Given the description of an element on the screen output the (x, y) to click on. 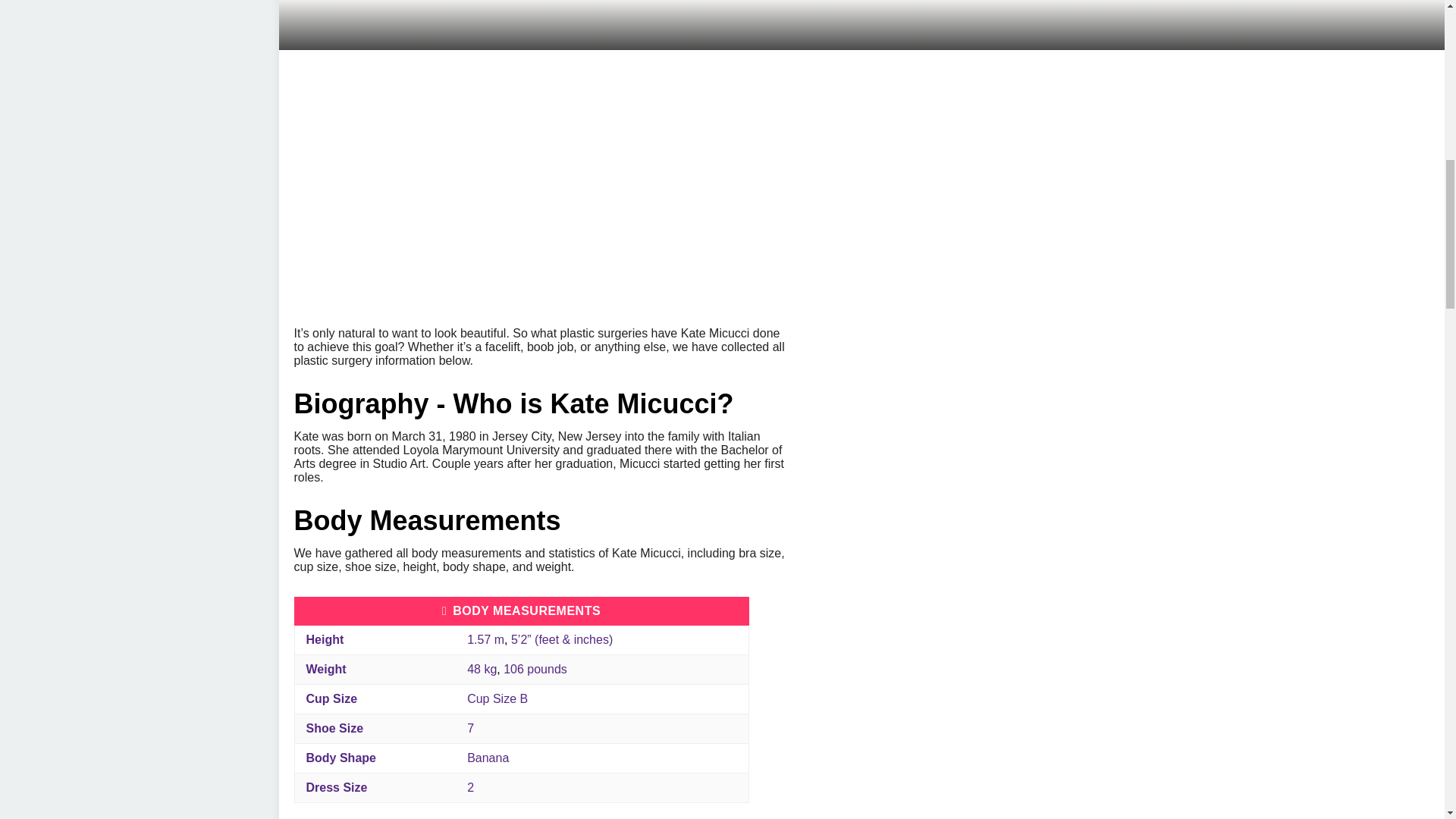
Cup Size (331, 698)
2 (470, 787)
Height (324, 639)
7 (470, 727)
Cup Size B (497, 698)
1.57 m (485, 639)
Body Shape (340, 757)
106 pounds (535, 668)
Shoe Size (334, 727)
Banana (487, 757)
Weight (325, 668)
Dress Size (336, 787)
48 kg (481, 668)
